Given the description of an element on the screen output the (x, y) to click on. 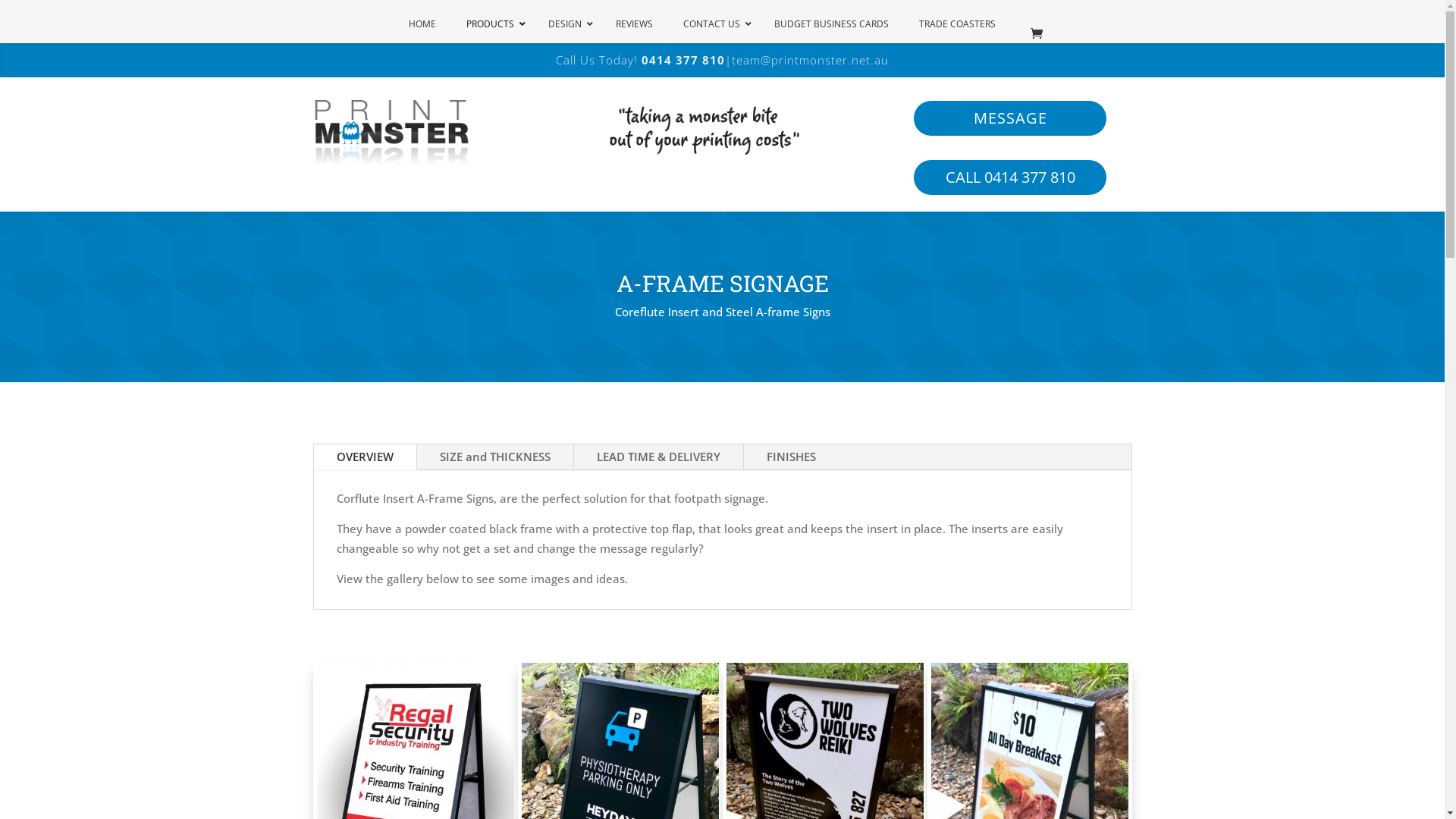
HOME Element type: text (421, 23)
REVIEWS Element type: text (634, 23)
CALL 0414 377 810 Element type: text (1010, 177)
DESIGN Element type: text (565, 23)
Print Monster Logo Element type: hover (389, 132)
0414 377 810 Element type: text (682, 59)
CONTACT US Element type: text (712, 23)
SIZE and THICKNESS Element type: text (495, 457)
BUDGET BUSINESS CARDS Element type: text (830, 23)
MESSAGE Element type: text (1010, 118)
team@printmonster.net.au Element type: text (809, 59)
LEAD TIME & DELIVERY Element type: text (657, 457)
FINISHES Element type: text (790, 457)
OVERVIEW Element type: text (364, 457)
PRODUCTS Element type: text (491, 23)
TRADE COASTERS Element type: text (956, 23)
